Given the description of an element on the screen output the (x, y) to click on. 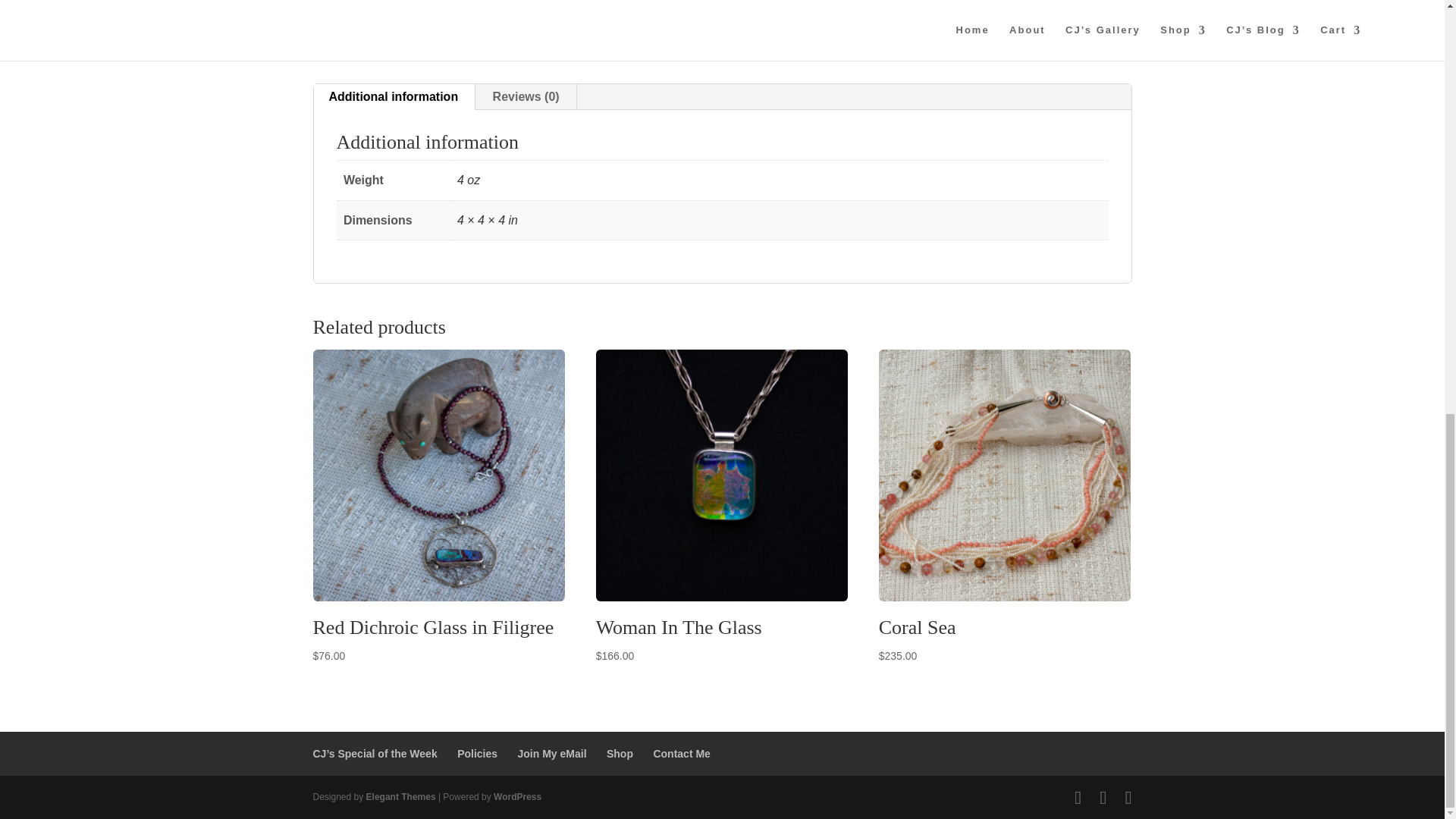
1 (761, 3)
Premium WordPress Themes (400, 796)
